Given the description of an element on the screen output the (x, y) to click on. 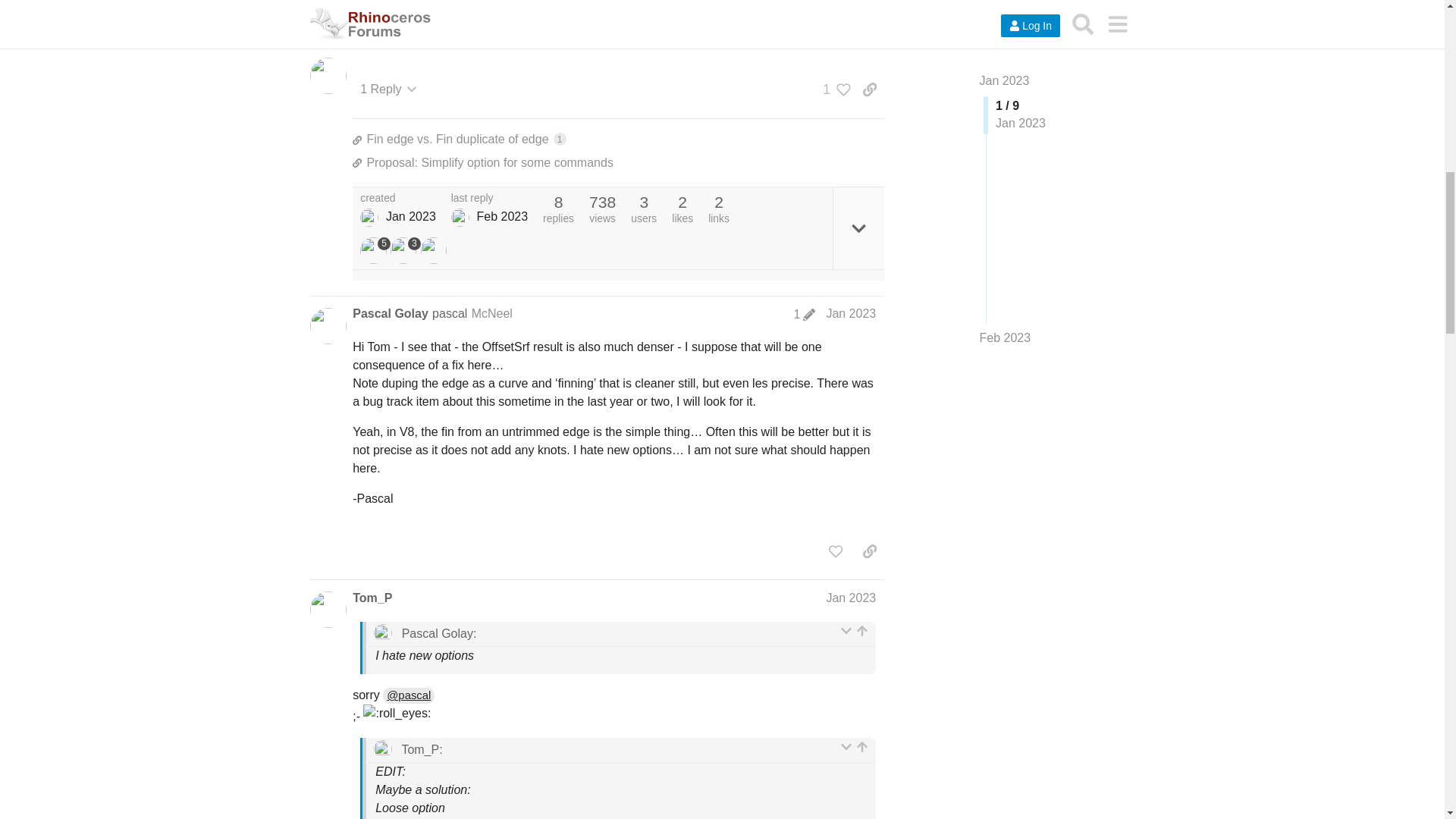
expand topic details (857, 227)
Pascal Golay (390, 313)
3 (405, 249)
Jan 2023 (850, 313)
1 Reply (387, 89)
1 (832, 89)
copy a link to this post to clipboard (869, 89)
1 person liked this post (832, 89)
last reply (489, 198)
pascal (449, 313)
1 (804, 314)
Proposal: Simplify option for some commands (617, 162)
Jan 26, 2023 2:52 am (410, 215)
5 (617, 139)
